Given the description of an element on the screen output the (x, y) to click on. 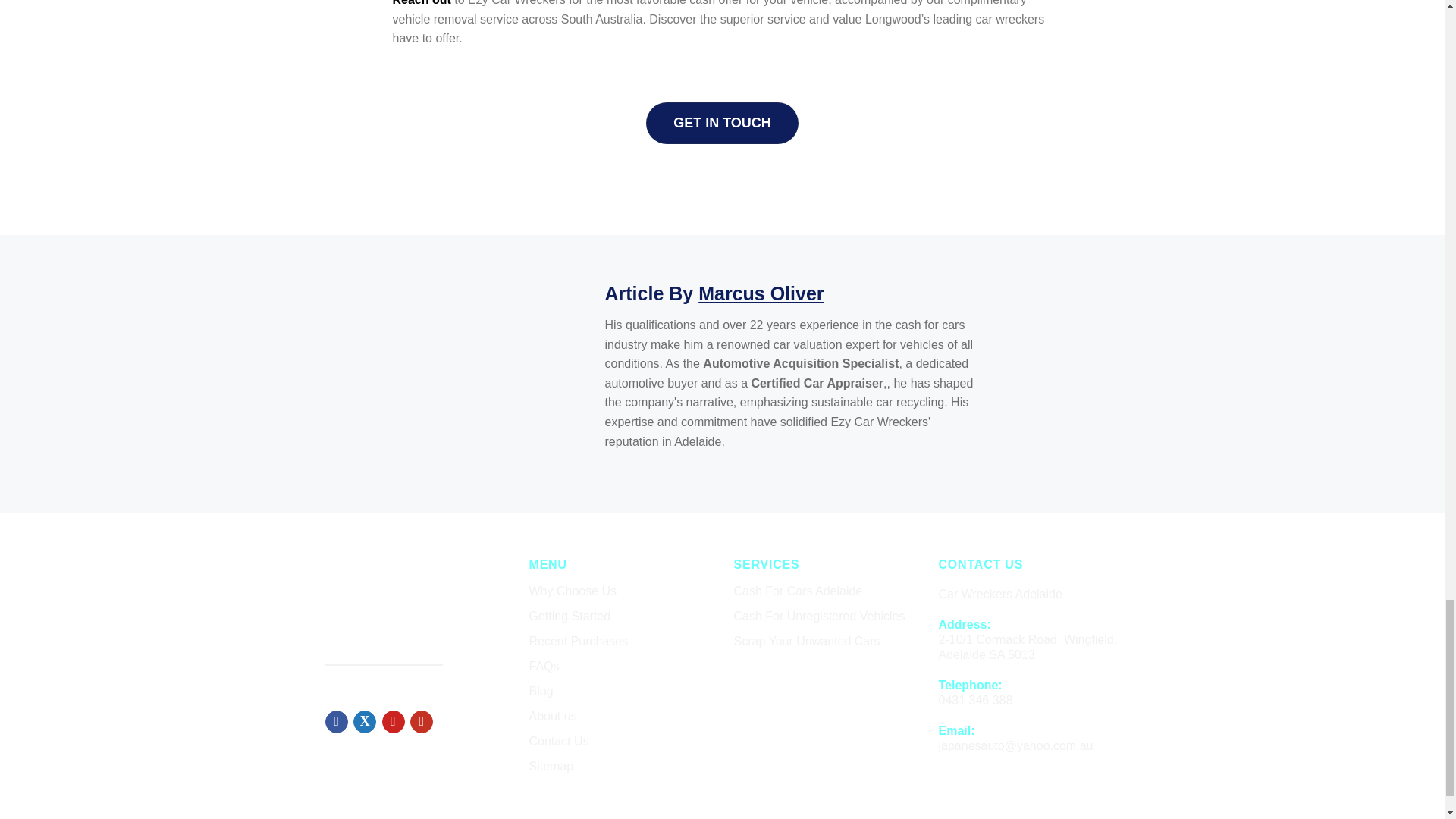
Follow on Twitter (364, 721)
Follow on Facebook (335, 721)
Follow on YouTube (421, 721)
Follow on Pinterest (392, 721)
